Given the description of an element on the screen output the (x, y) to click on. 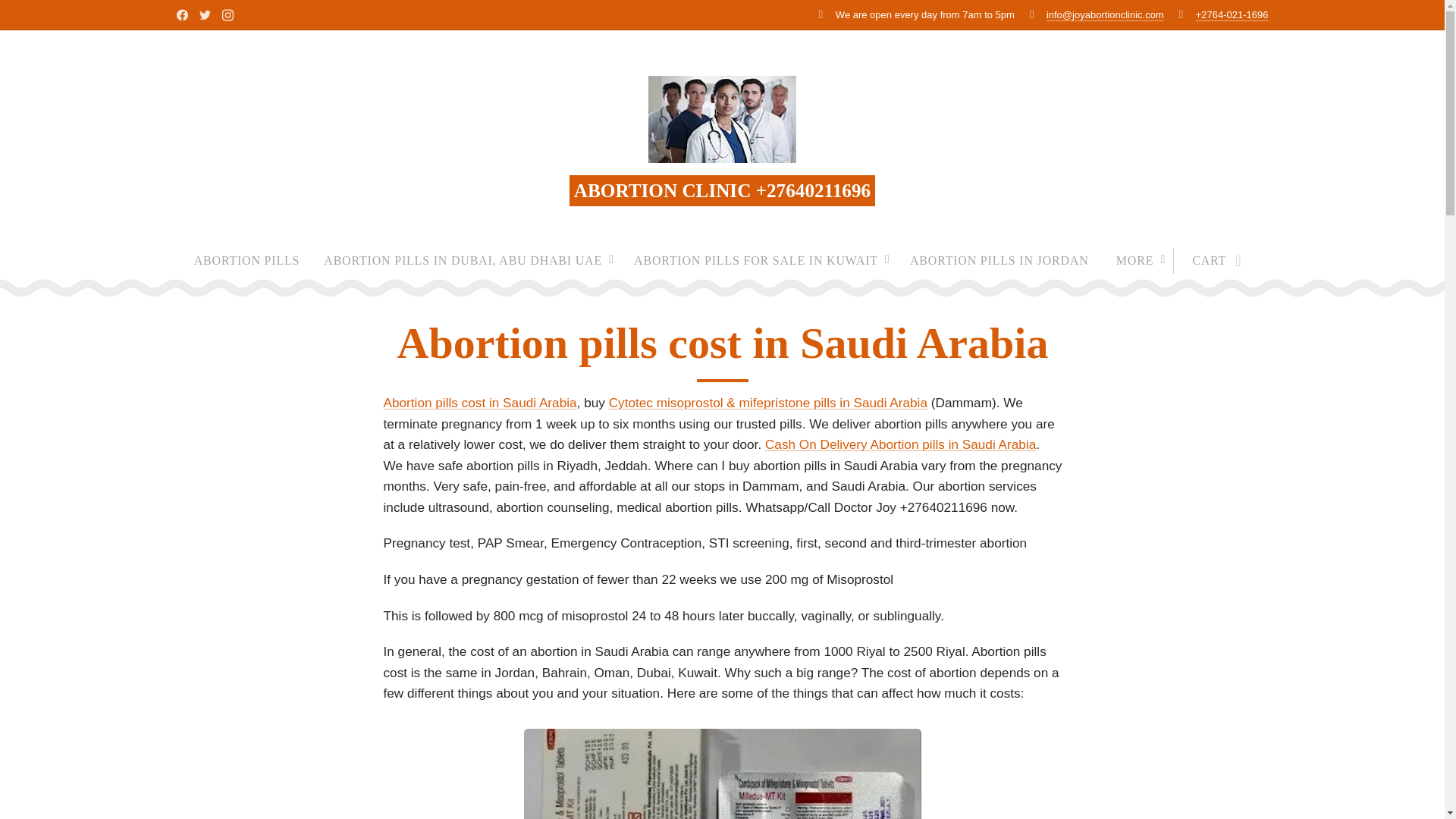
CART (1211, 260)
ABORTION PILLS (253, 260)
ABORTION PILLS FOR SALE IN KUWAIT (759, 260)
ABORTION PILLS IN JORDAN (999, 260)
ABORTION PILLS IN DUBAI, ABU DHABI UAE (466, 260)
MORE (1138, 260)
